Given the description of an element on the screen output the (x, y) to click on. 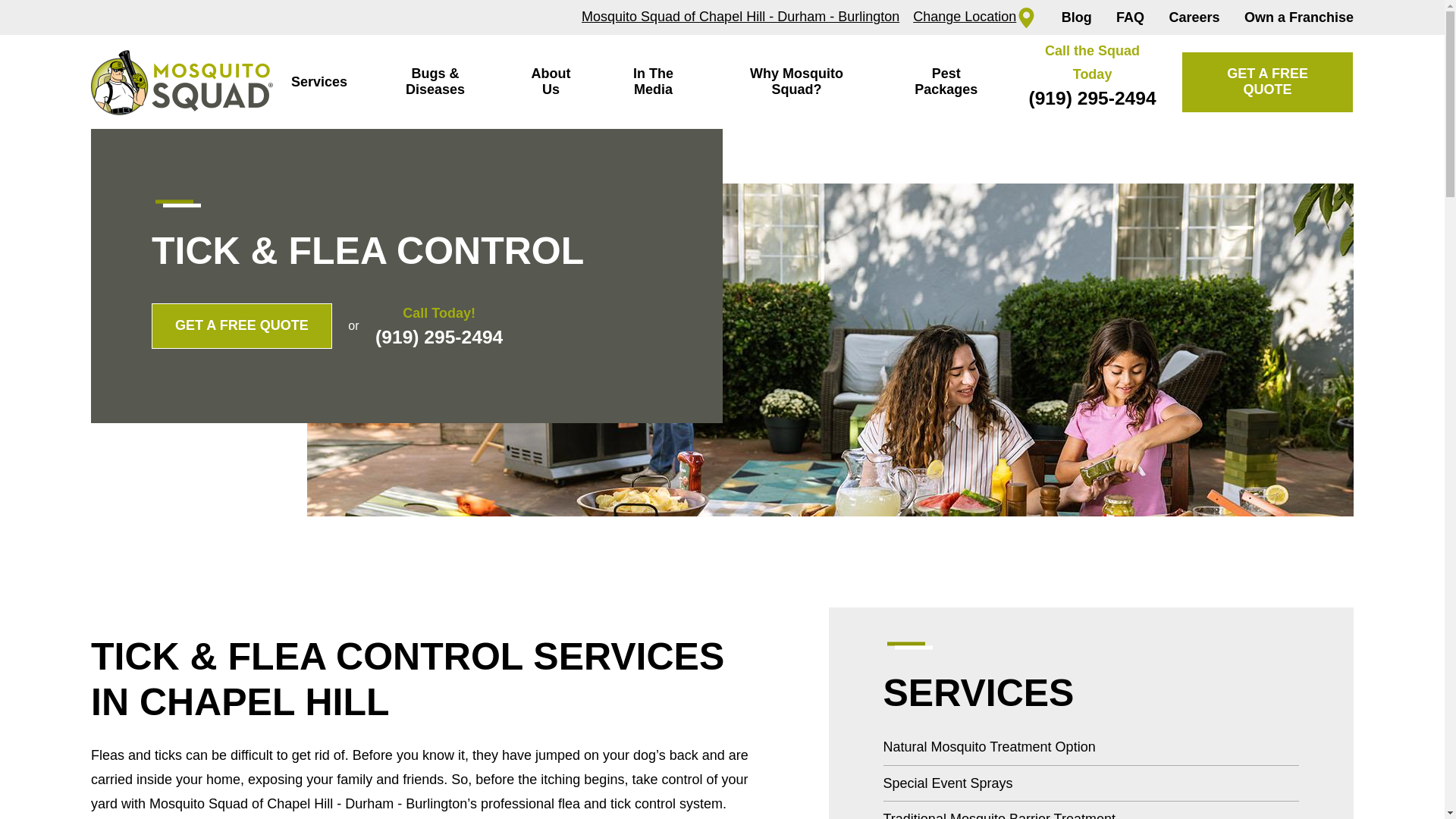
Mosquito Squad of Chapel Hill - Durham - Burlington (739, 17)
FAQ (1130, 17)
About Us (550, 82)
Services (319, 82)
Pest Packages (946, 82)
Blog (1076, 17)
Own a Franchise (1299, 17)
Careers (1194, 17)
Change Location (974, 17)
In The Media (653, 82)
Why Mosquito Squad? (796, 82)
